Given the description of an element on the screen output the (x, y) to click on. 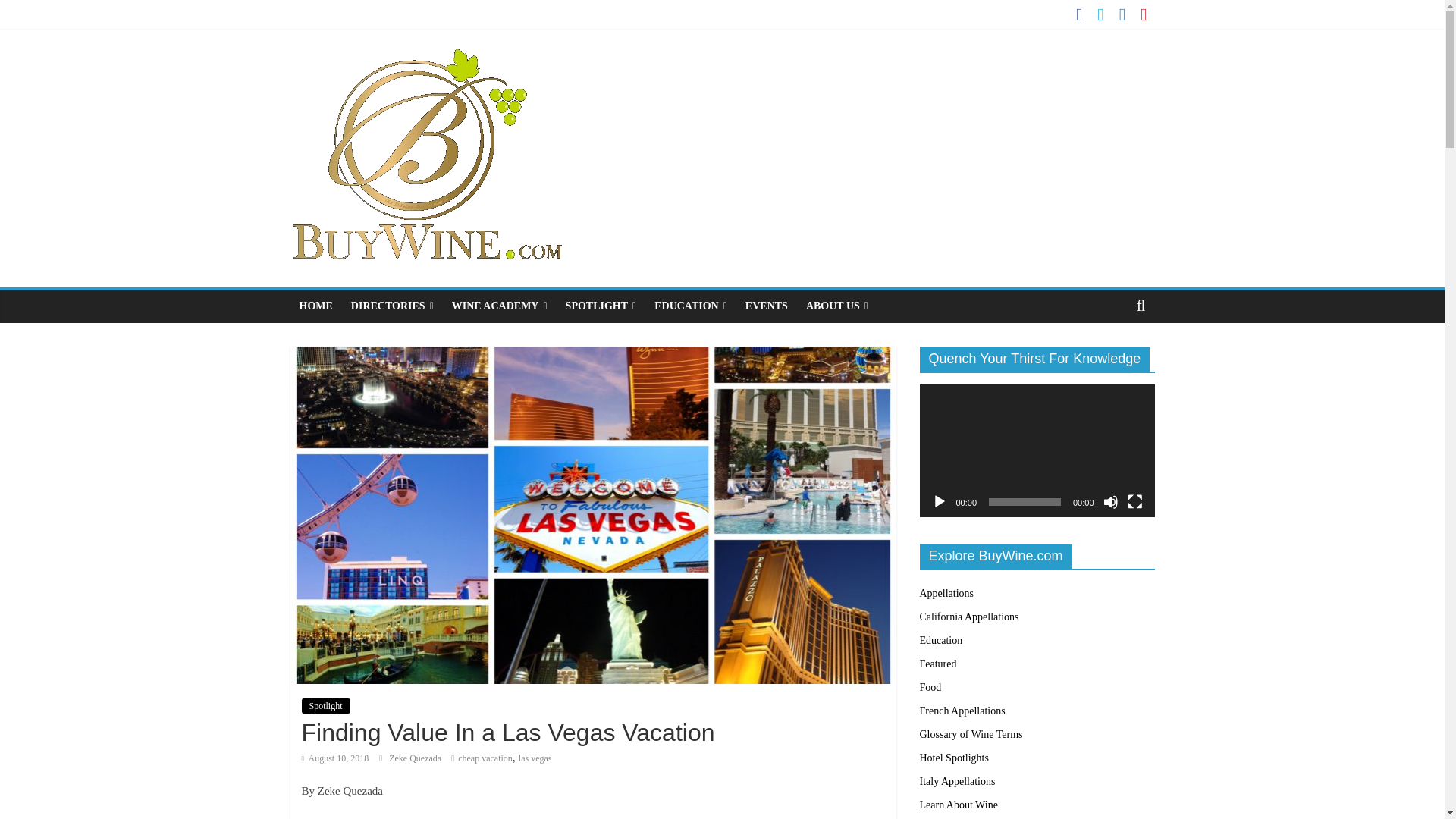
EVENTS (766, 306)
Mute (1110, 501)
8:58 am (335, 757)
Zeke Quezada (416, 757)
ABOUT US (836, 306)
DIRECTORIES (392, 306)
SPOTLIGHT (601, 306)
Play (938, 501)
EDUCATION (690, 306)
WINE ACADEMY (499, 306)
1.844.4.BUYWINE (1086, 99)
HOME (314, 306)
